Given the description of an element on the screen output the (x, y) to click on. 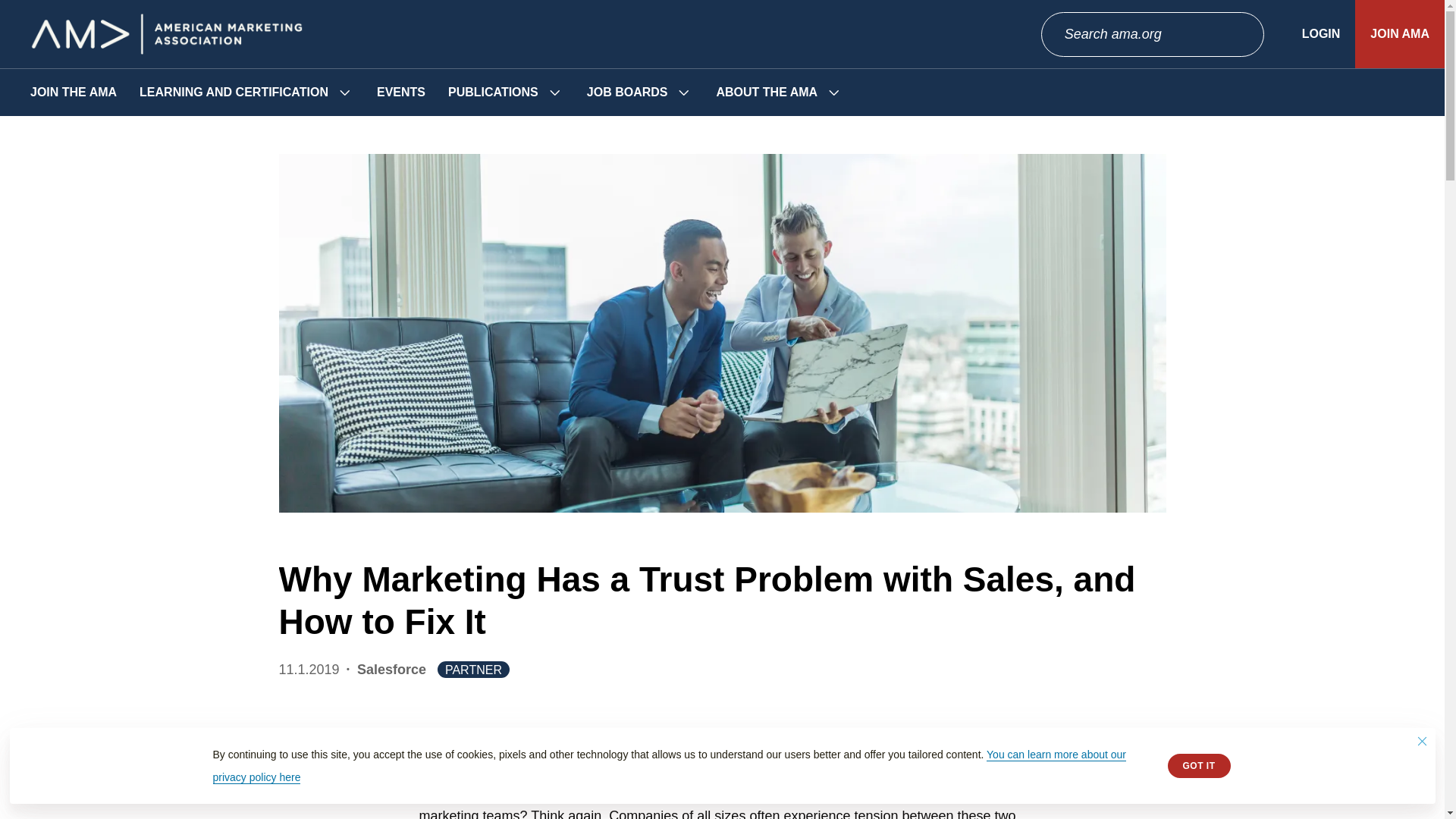
EVENTS (401, 92)
JOIN THE AMA (73, 92)
JOB BOARDS (627, 92)
ABOUT THE AMA (766, 92)
LEARNING AND CERTIFICATION (234, 92)
LOGIN (1321, 33)
PUBLICATIONS (493, 92)
